Given the description of an element on the screen output the (x, y) to click on. 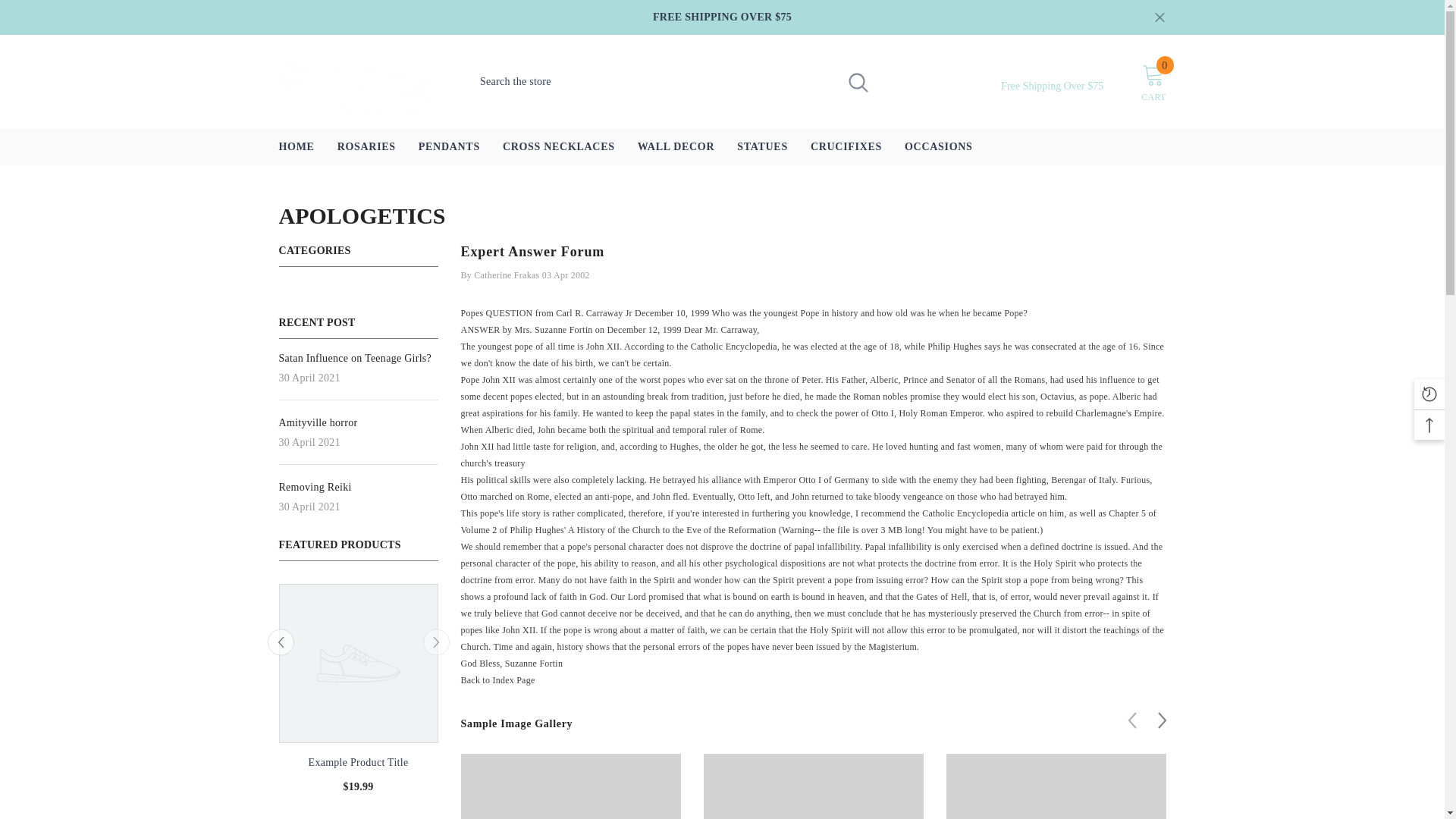
WALL DECOR (676, 146)
OCCASIONS (938, 146)
ROSARIES (366, 146)
Close (1159, 16)
CRUCIFIXES (1153, 81)
PENDANTS (846, 146)
STATUES (449, 146)
CROSS NECKLACES (762, 146)
HOME (559, 146)
